Given the description of an element on the screen output the (x, y) to click on. 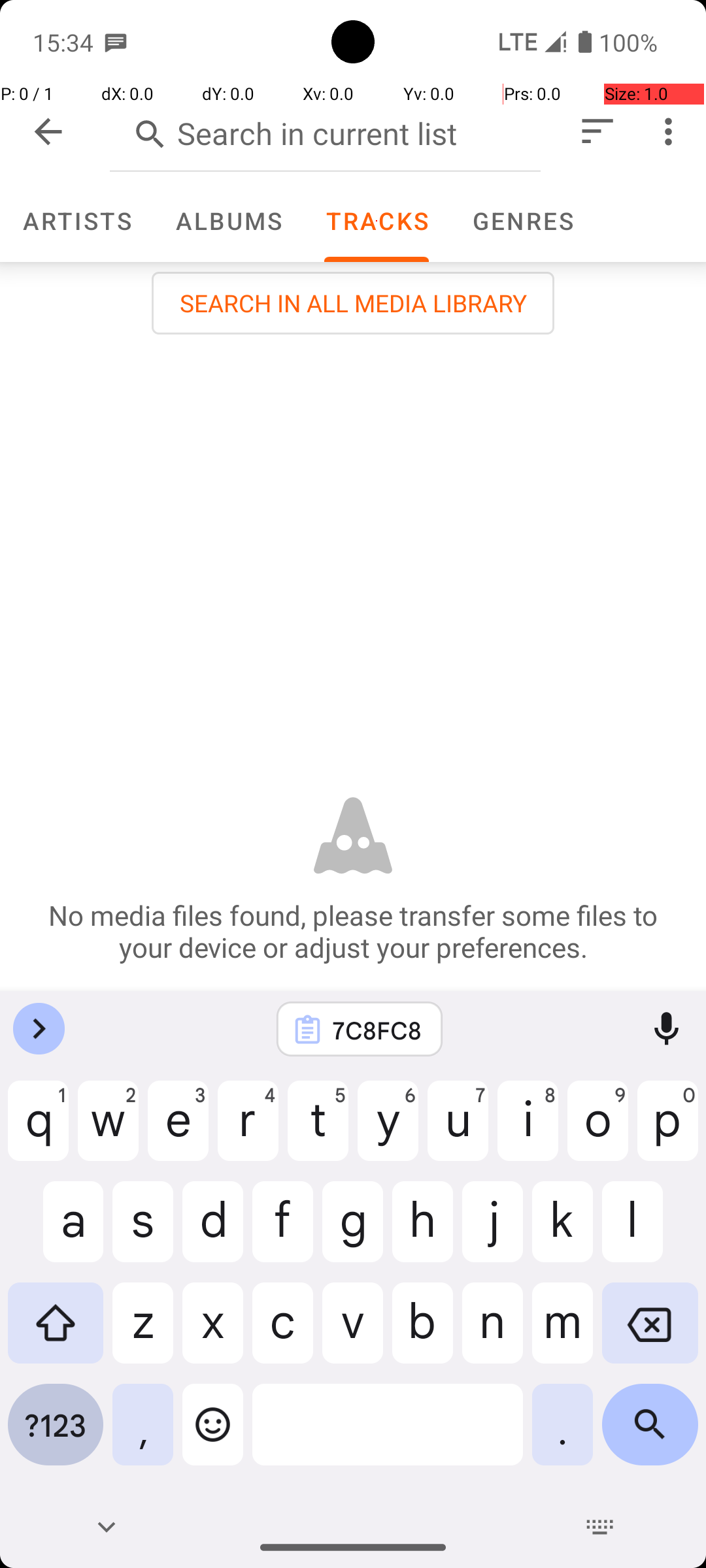
SEARCH IN ALL MEDIA LIBRARY Element type: android.widget.Button (352, 302)
No media files found, please transfer some files to your device or adjust your preferences. Element type: android.widget.TextView (352, 930)
   Search in current list Element type: android.widget.AutoCompleteTextView (324, 130)
